Given the description of an element on the screen output the (x, y) to click on. 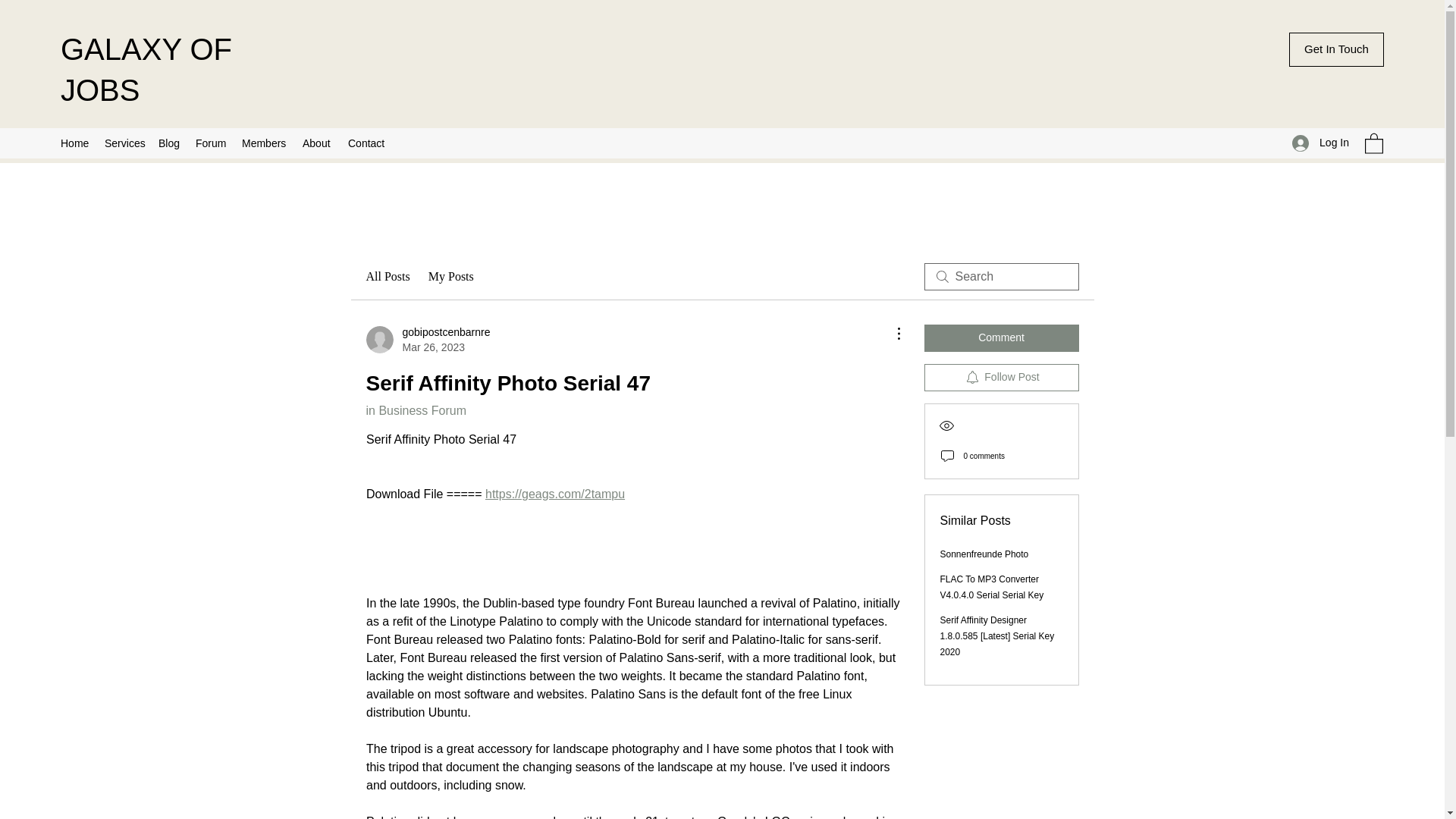
Follow Post (1000, 377)
FLAC To MP3 Converter V4.0.4.0 Serial Serial Key (991, 587)
GALAXY OF JOBS (146, 69)
Contact (366, 142)
Get In Touch (1336, 49)
in Business Forum (415, 410)
Forum (210, 142)
Services (124, 142)
Comment (1000, 338)
